Given the description of an element on the screen output the (x, y) to click on. 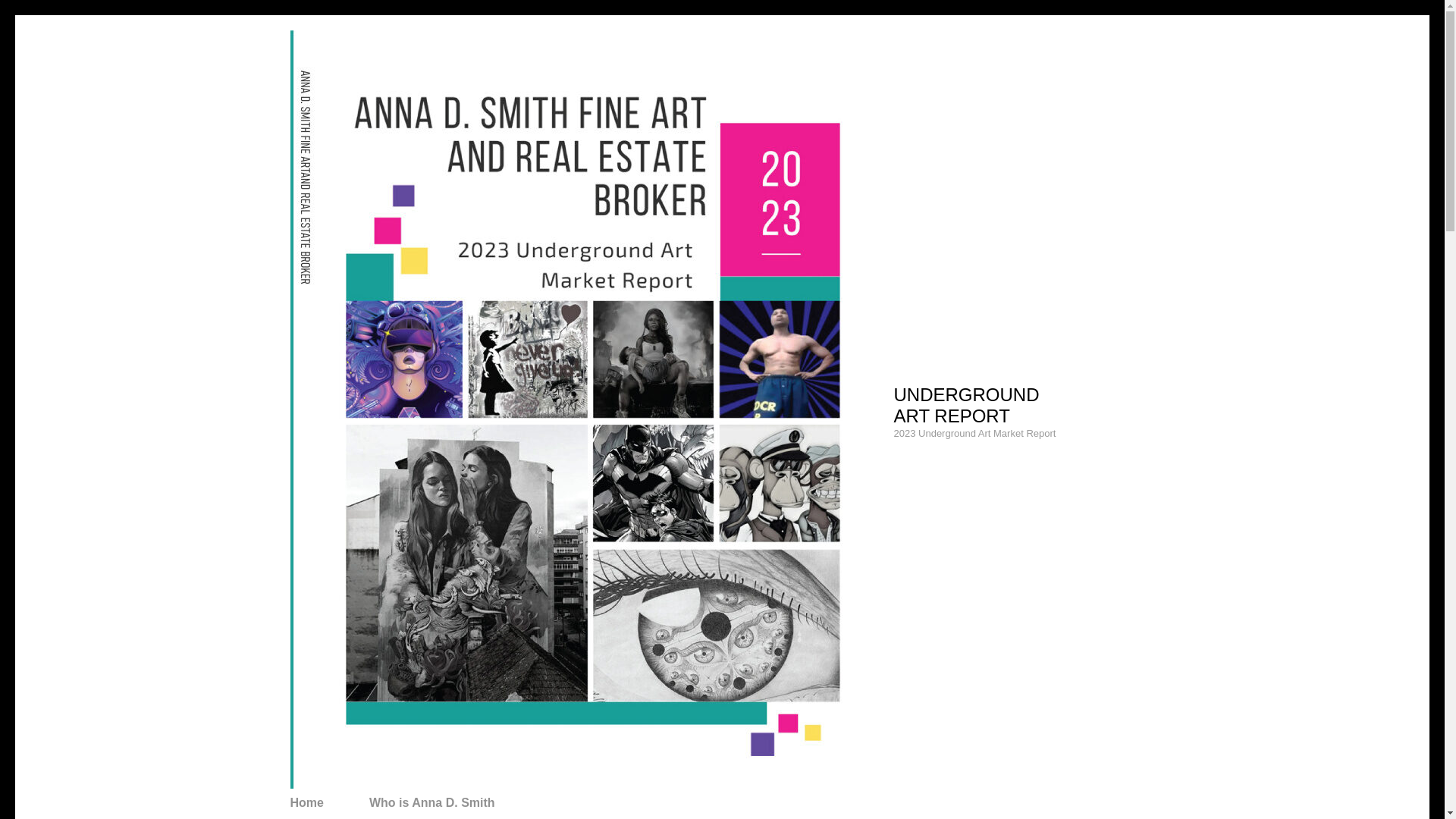
UNDERGROUND ART REPORT (966, 404)
Who is Anna D. Smith (432, 802)
Home (306, 802)
